Given the description of an element on the screen output the (x, y) to click on. 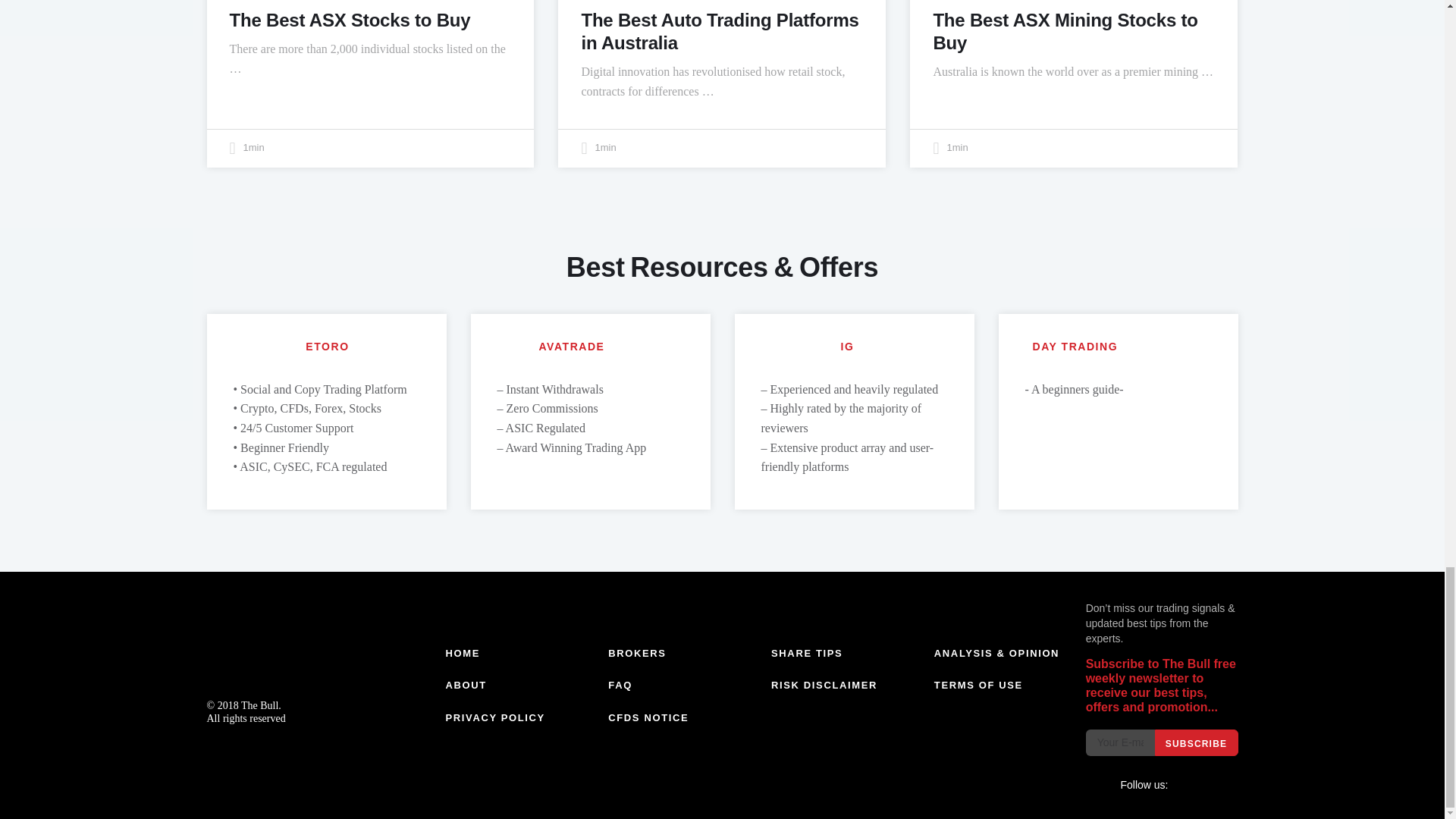
The Best Auto Trading Platforms in Australia (719, 31)
The Best ASX Stocks to Buy (349, 19)
The Best ASX Mining Stocks to Buy (1064, 31)
Subscribe (1195, 742)
